Given the description of an element on the screen output the (x, y) to click on. 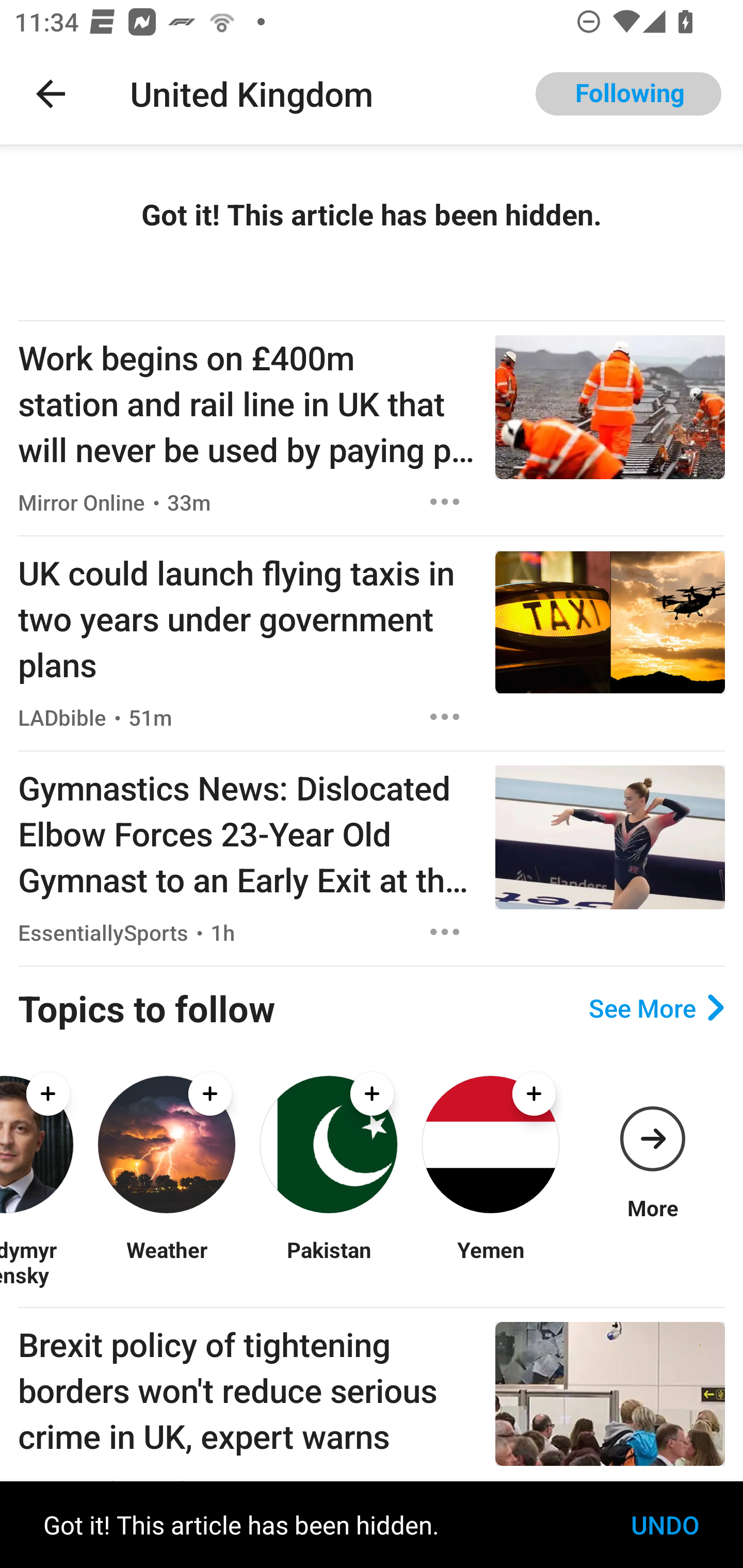
Navigate up (50, 93)
Following (628, 94)
Options (444, 501)
Options (444, 716)
Options (444, 932)
See More (656, 1007)
More (652, 1144)
Weather (166, 1261)
Pakistan (328, 1261)
Yemen (490, 1261)
UNDO (665, 1524)
